Given the description of an element on the screen output the (x, y) to click on. 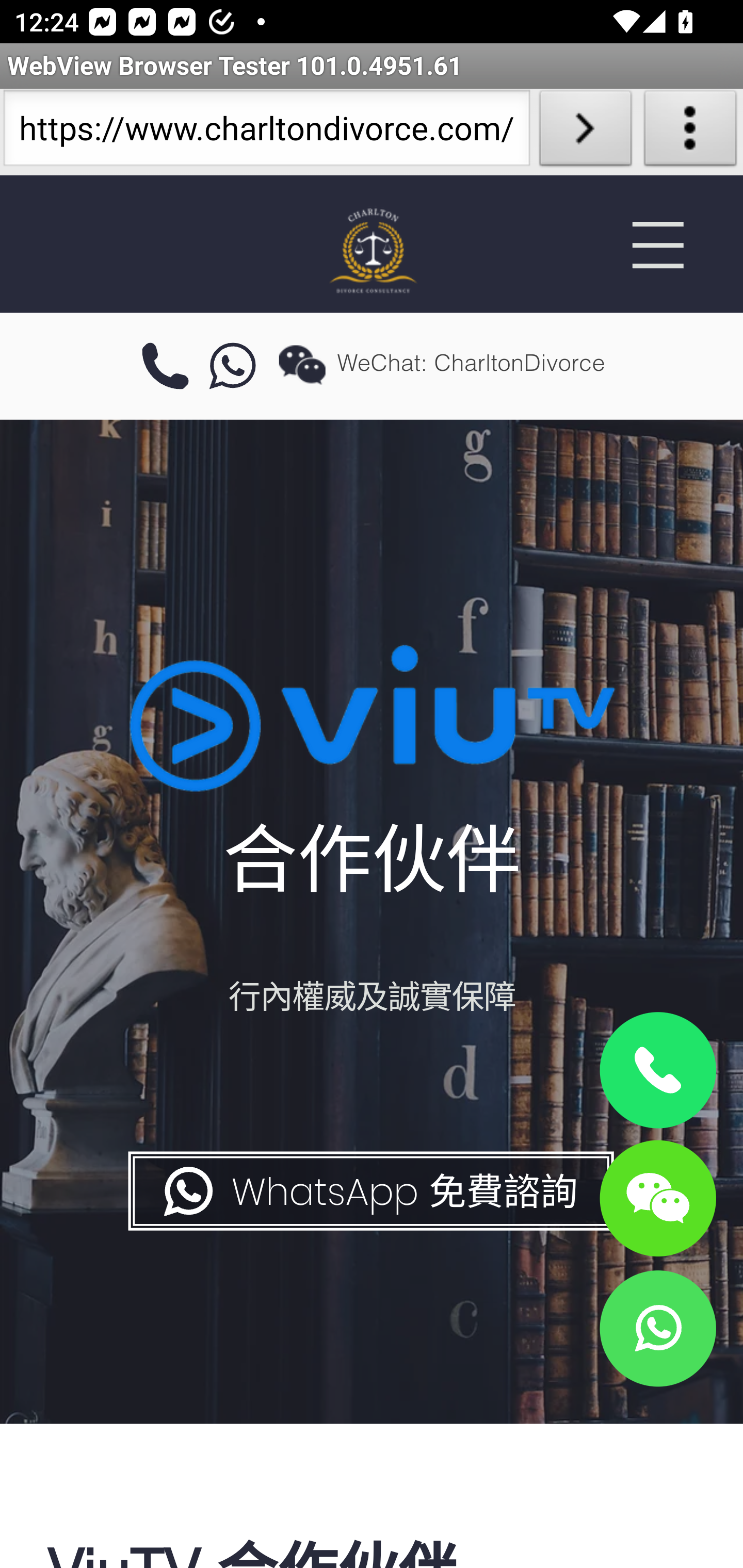
Load URL (585, 132)
About WebView (690, 132)
Open navigation menu (657, 245)
500x500 沒背景.png (371, 249)
tel:+852 9692 7577 (164, 366)
o7rumn (232, 366)
wechat2_edited_edited.png (301, 364)
Phone (657, 1070)
WeChat: CharltonDivorce (657, 1196)
WhatsApp 免費諮詢 (369, 1191)
WhatsApp (657, 1327)
